Given the description of an element on the screen output the (x, y) to click on. 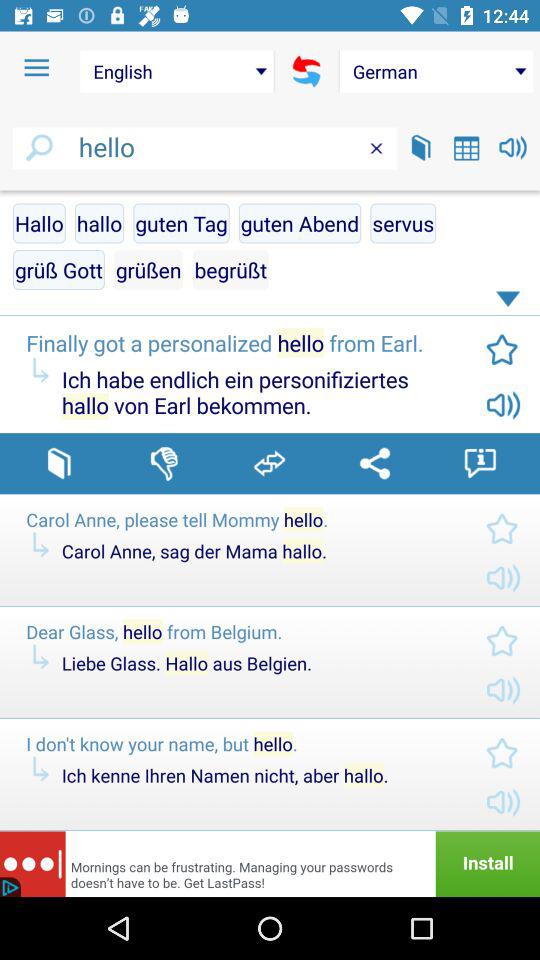
open item next to the english item (36, 68)
